Given the description of an element on the screen output the (x, y) to click on. 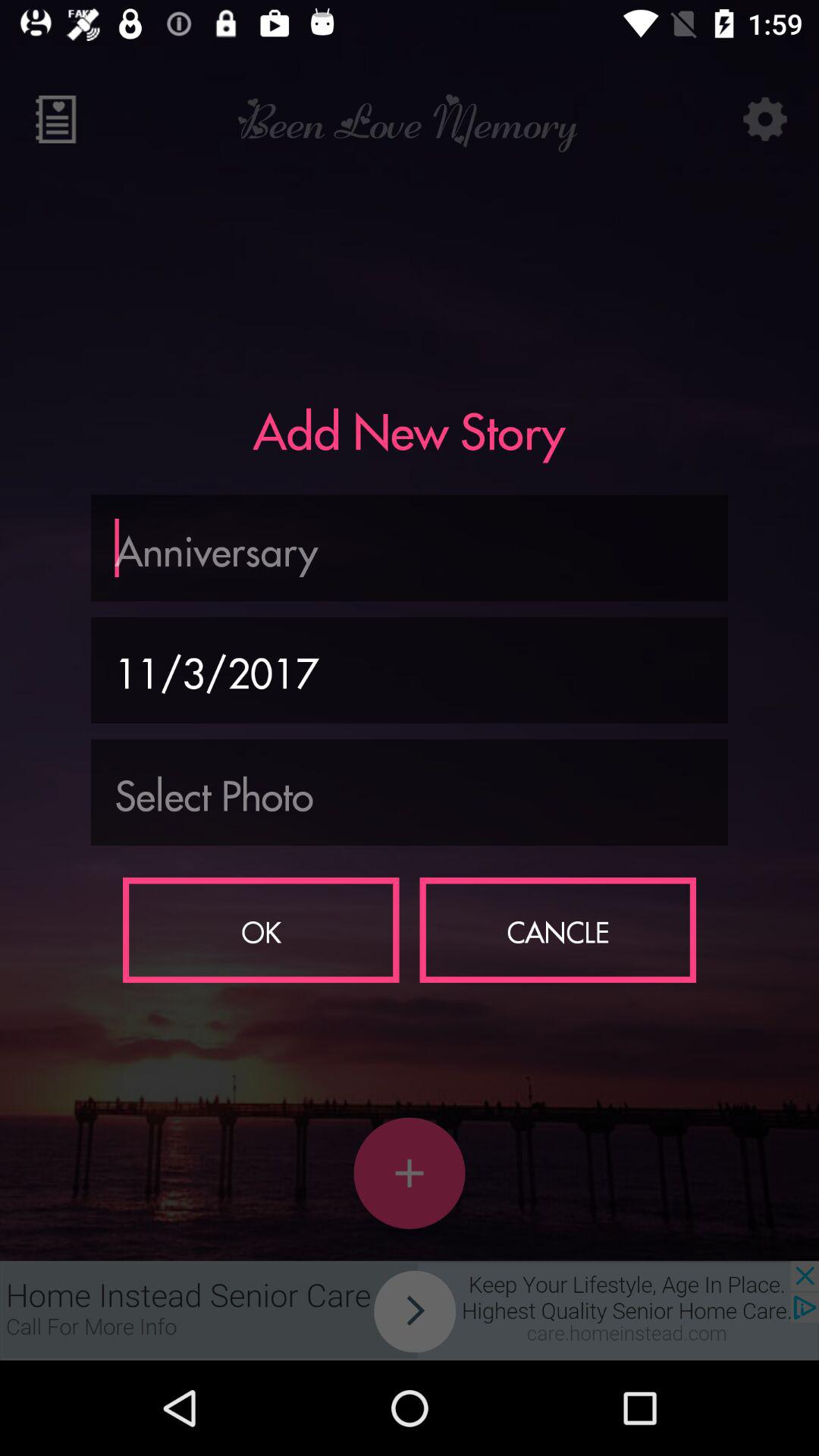
turn off item to the left of the cancle (260, 929)
